Given the description of an element on the screen output the (x, y) to click on. 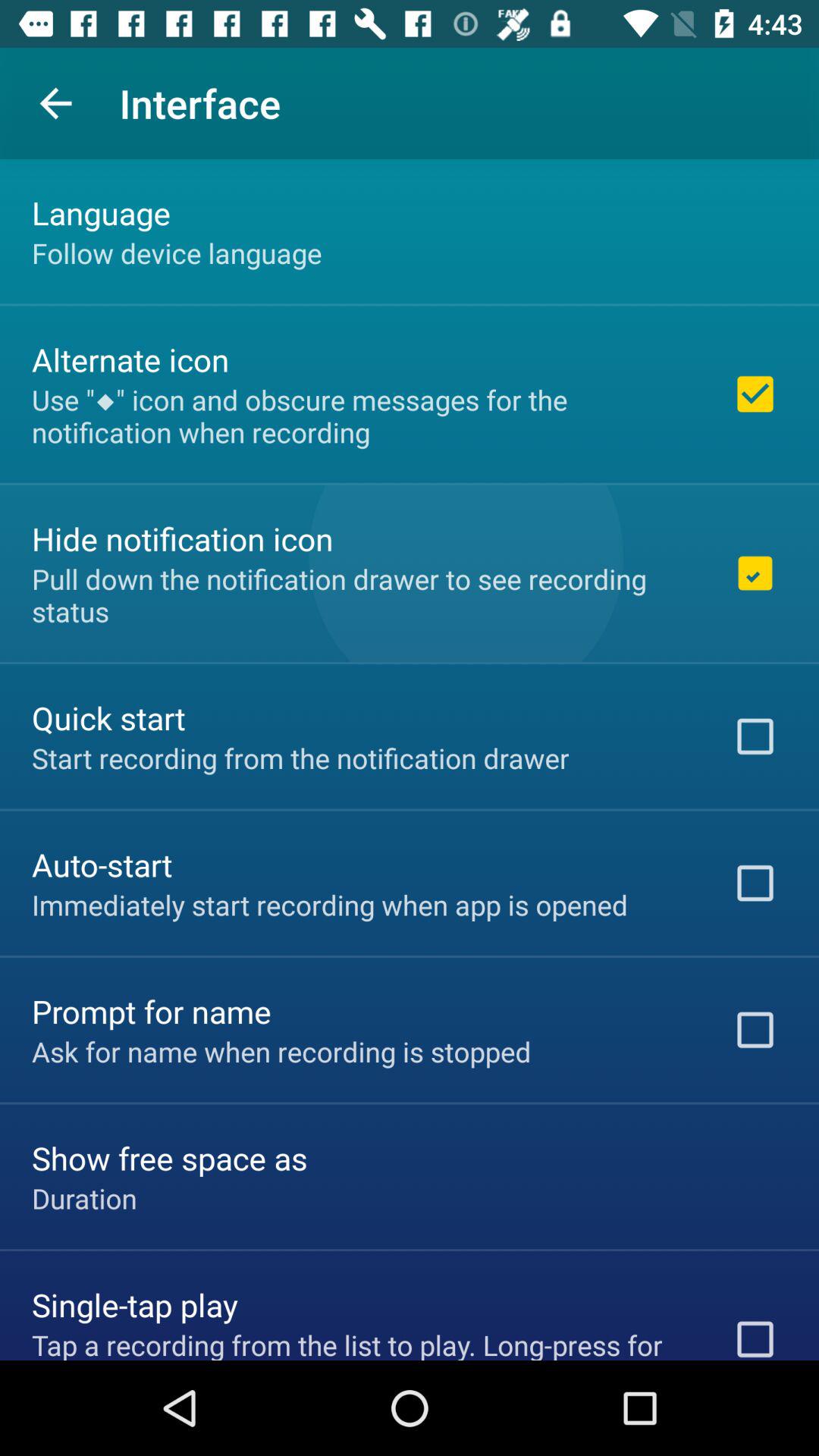
scroll to show free space item (169, 1157)
